Given the description of an element on the screen output the (x, y) to click on. 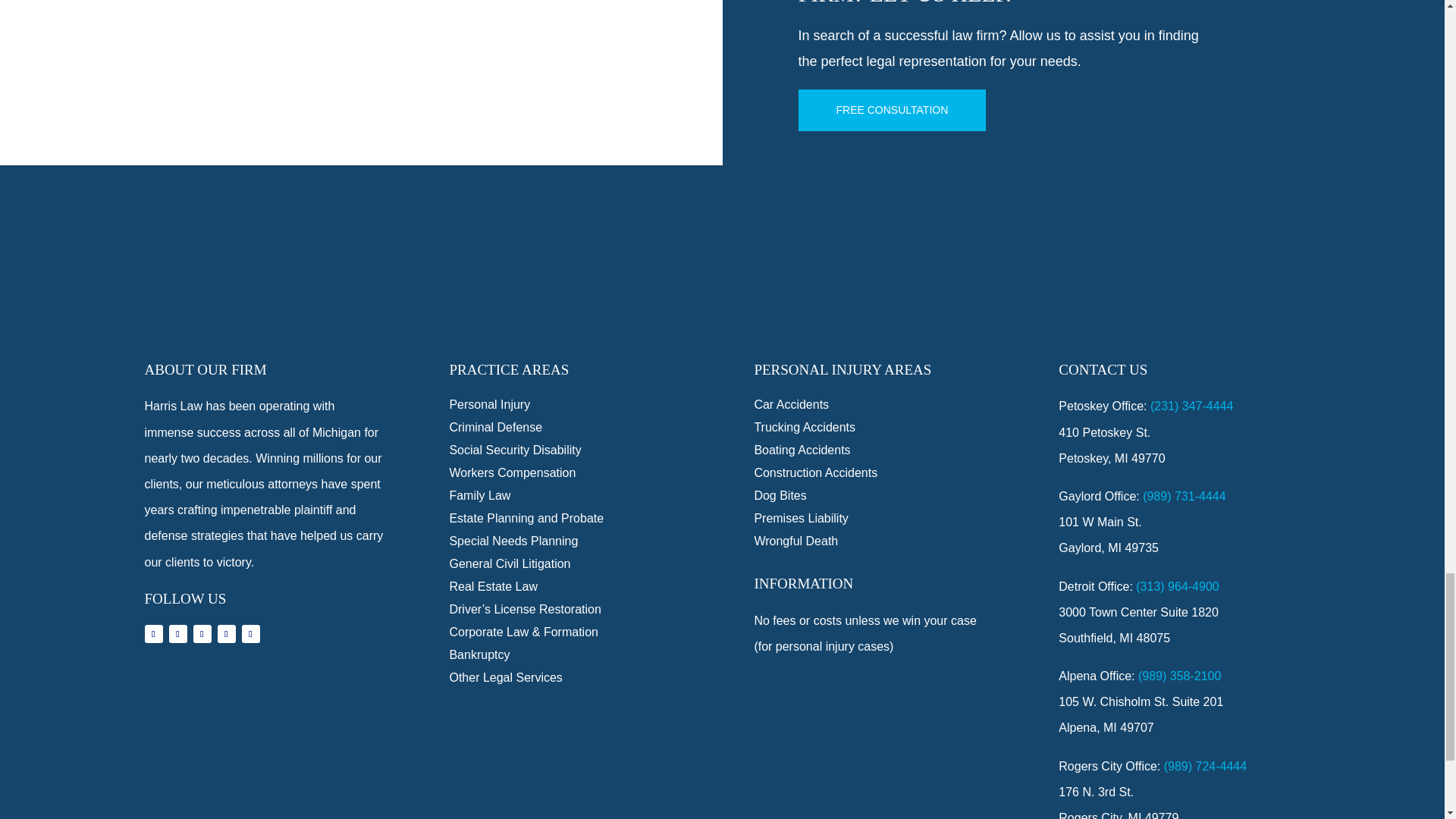
Follow on Facebook (152, 633)
Follow on Youtube (250, 633)
f-logo (721, 298)
Follow on X (177, 633)
Follow on Instagram (201, 633)
Follow on LinkedIn (225, 633)
